Given the description of an element on the screen output the (x, y) to click on. 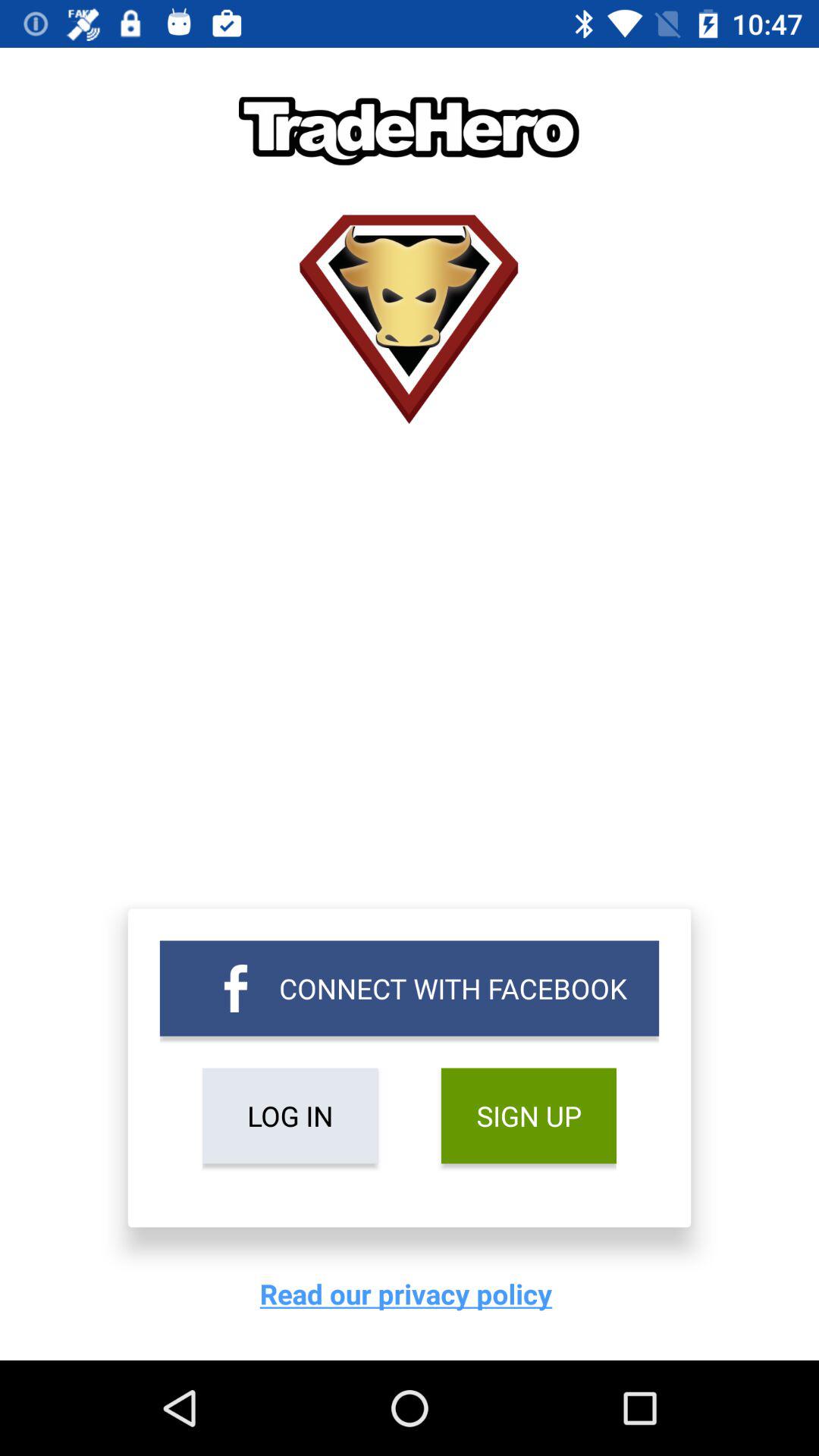
select the item above read our privacy item (289, 1115)
